Given the description of an element on the screen output the (x, y) to click on. 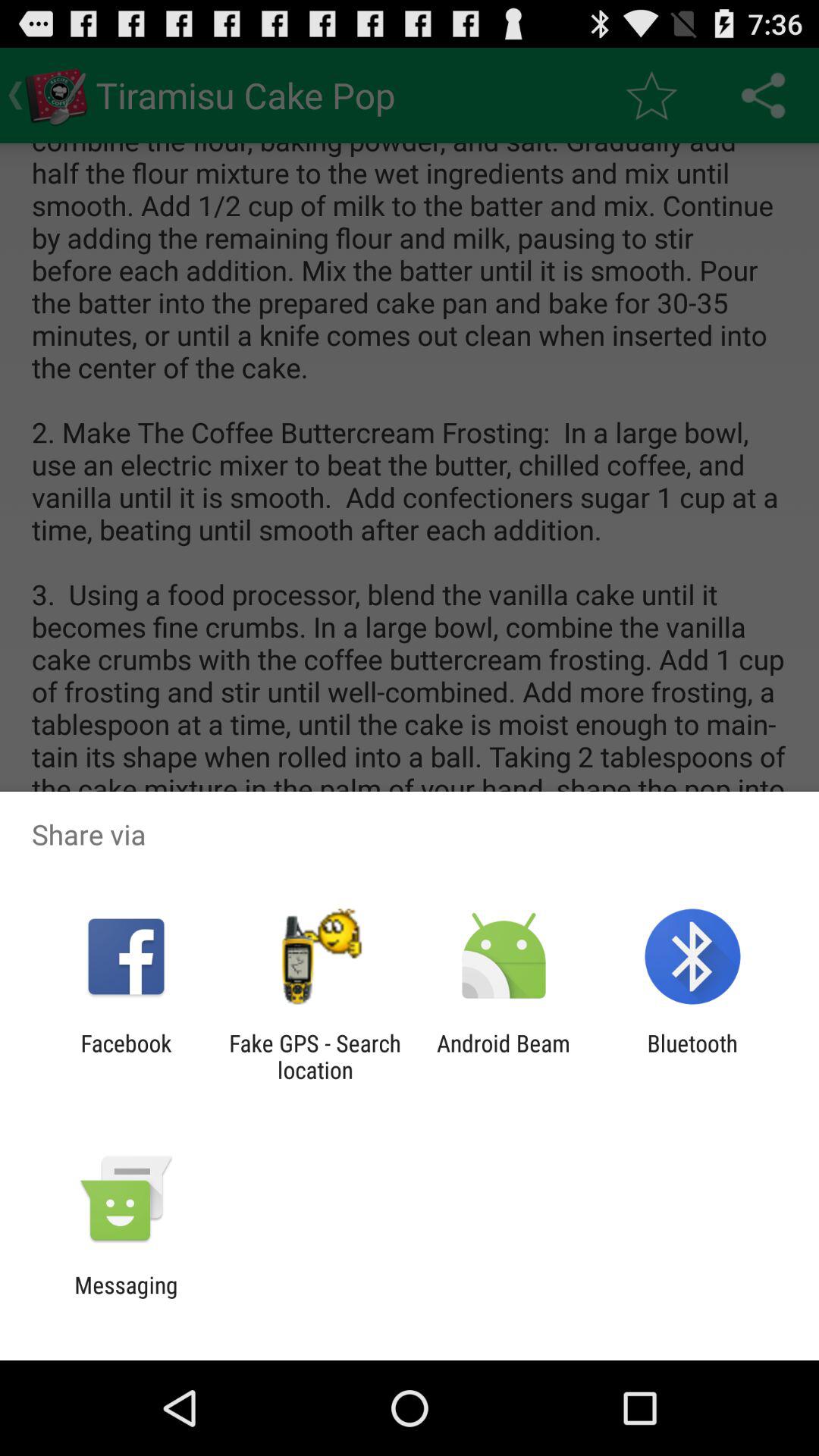
jump until the messaging (126, 1298)
